Given the description of an element on the screen output the (x, y) to click on. 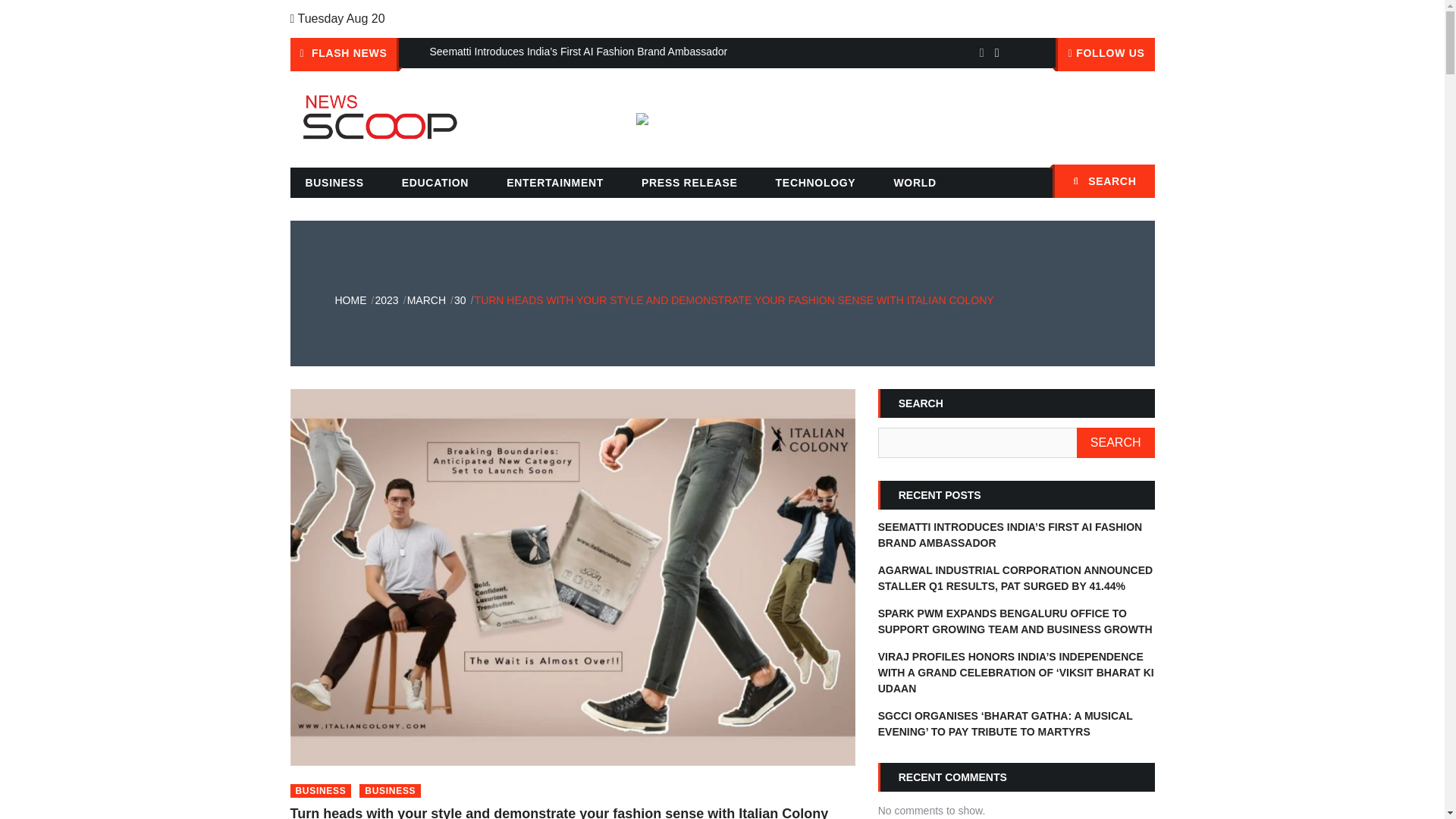
BUSINESS (333, 182)
BUSINESS (319, 790)
2023 (385, 300)
MARCH (426, 300)
EDUCATION (435, 182)
30 (459, 300)
FOLLOW US (1104, 54)
BUSINESS (389, 790)
Search (1135, 182)
SEARCH (1115, 442)
